Given the description of an element on the screen output the (x, y) to click on. 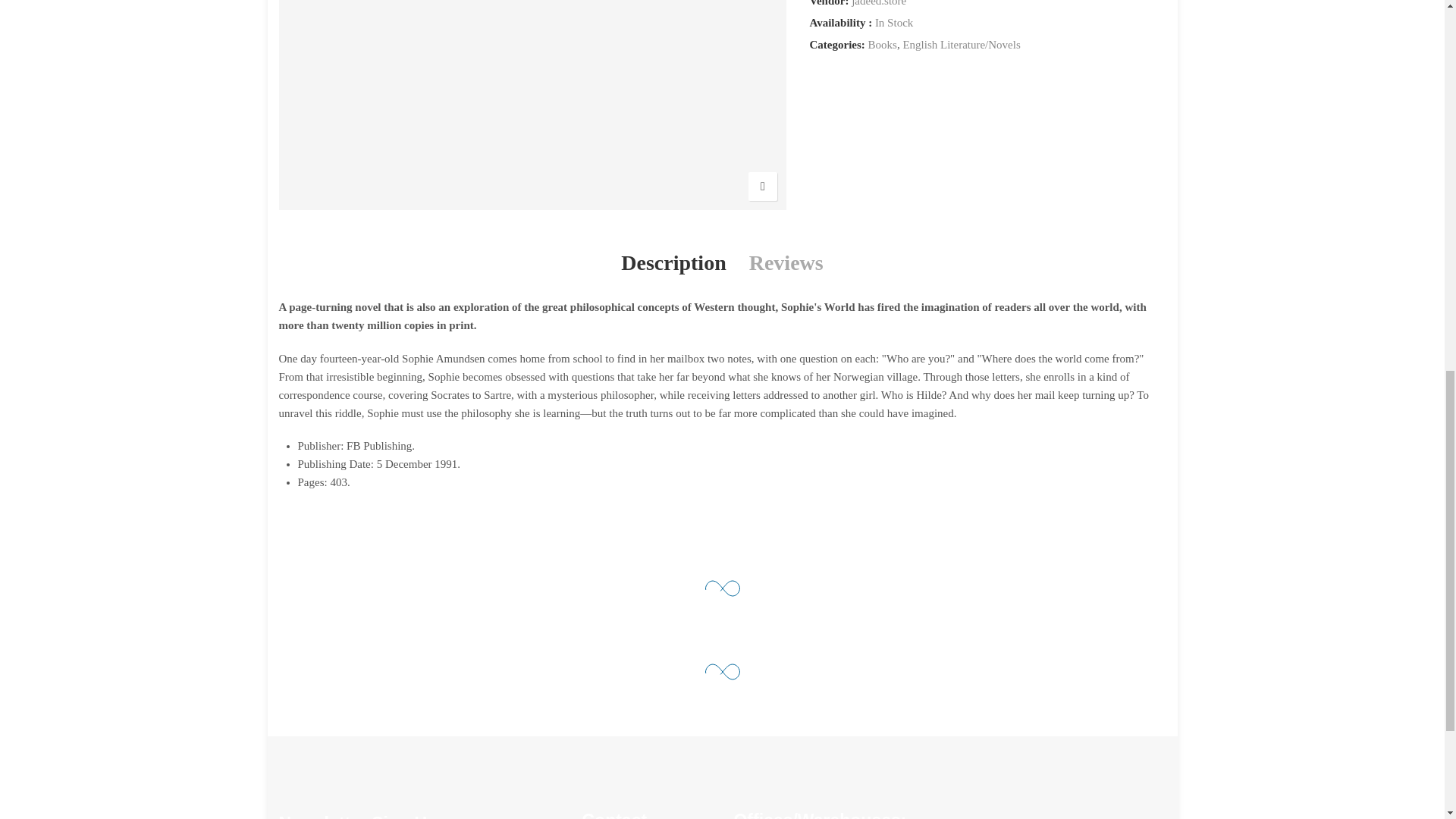
Books (881, 45)
jadeed.store (878, 4)
Reviews (786, 264)
Description (673, 264)
jadeed.store (878, 4)
